Given the description of an element on the screen output the (x, y) to click on. 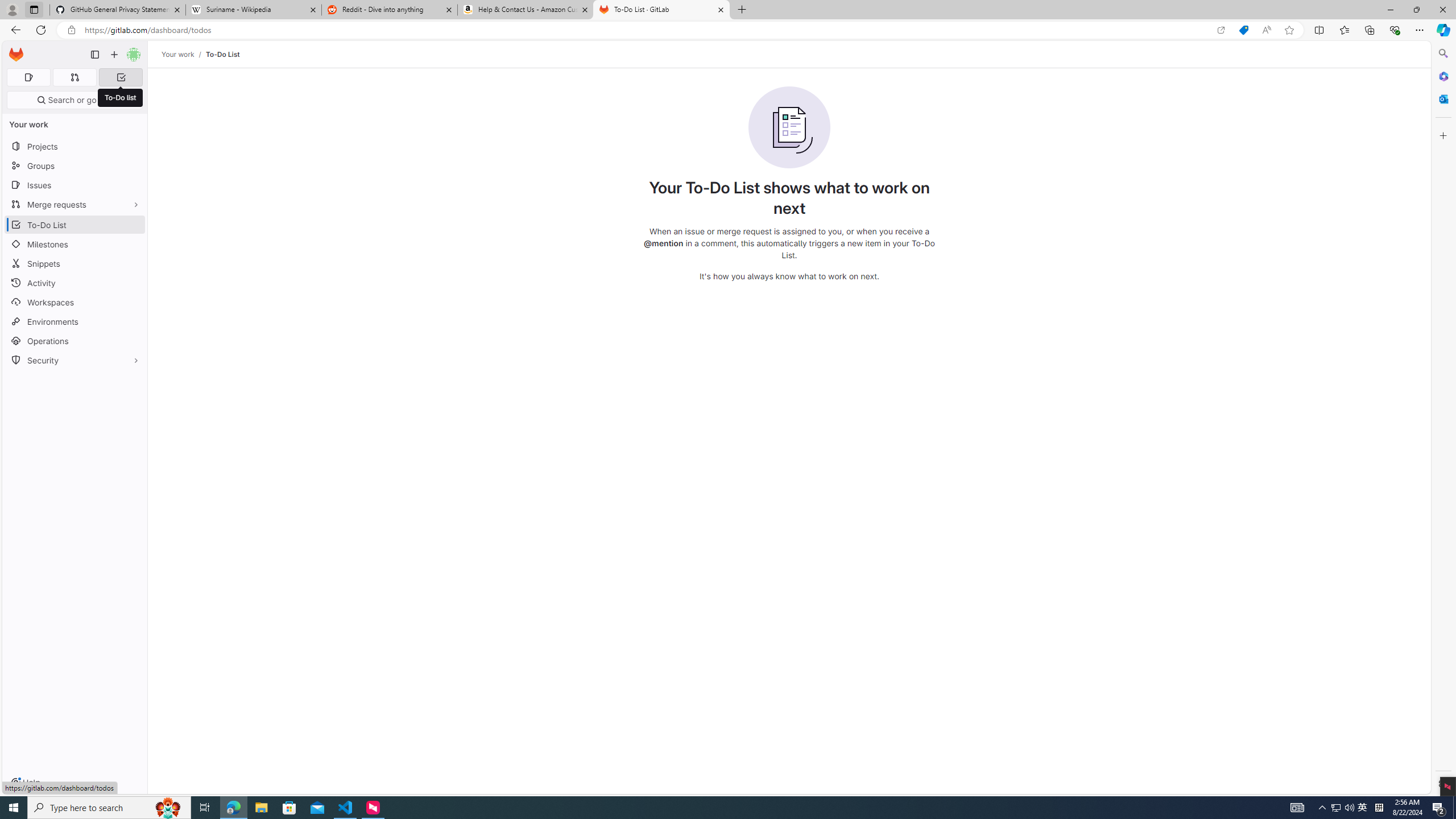
Operations (74, 340)
To-Do list (120, 97)
Snippets (74, 262)
Security (74, 359)
Your work/ (183, 53)
Environments (74, 321)
Groups (74, 165)
